Given the description of an element on the screen output the (x, y) to click on. 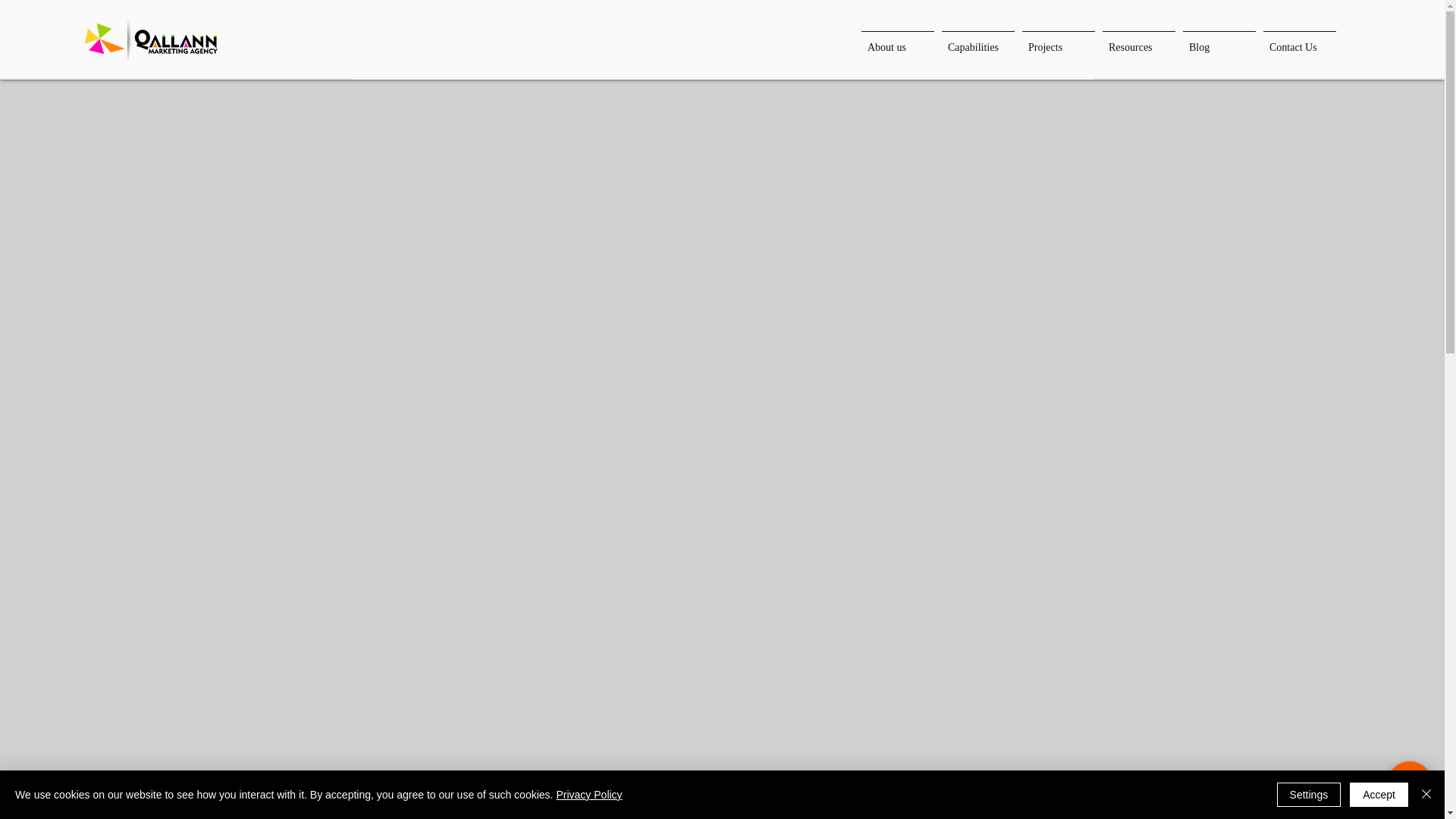
Accept (1378, 794)
Privacy Policy (588, 794)
Projects (1058, 40)
Blog (1219, 40)
Contact Us (1299, 40)
About us (897, 40)
Settings (1308, 794)
